Given the description of an element on the screen output the (x, y) to click on. 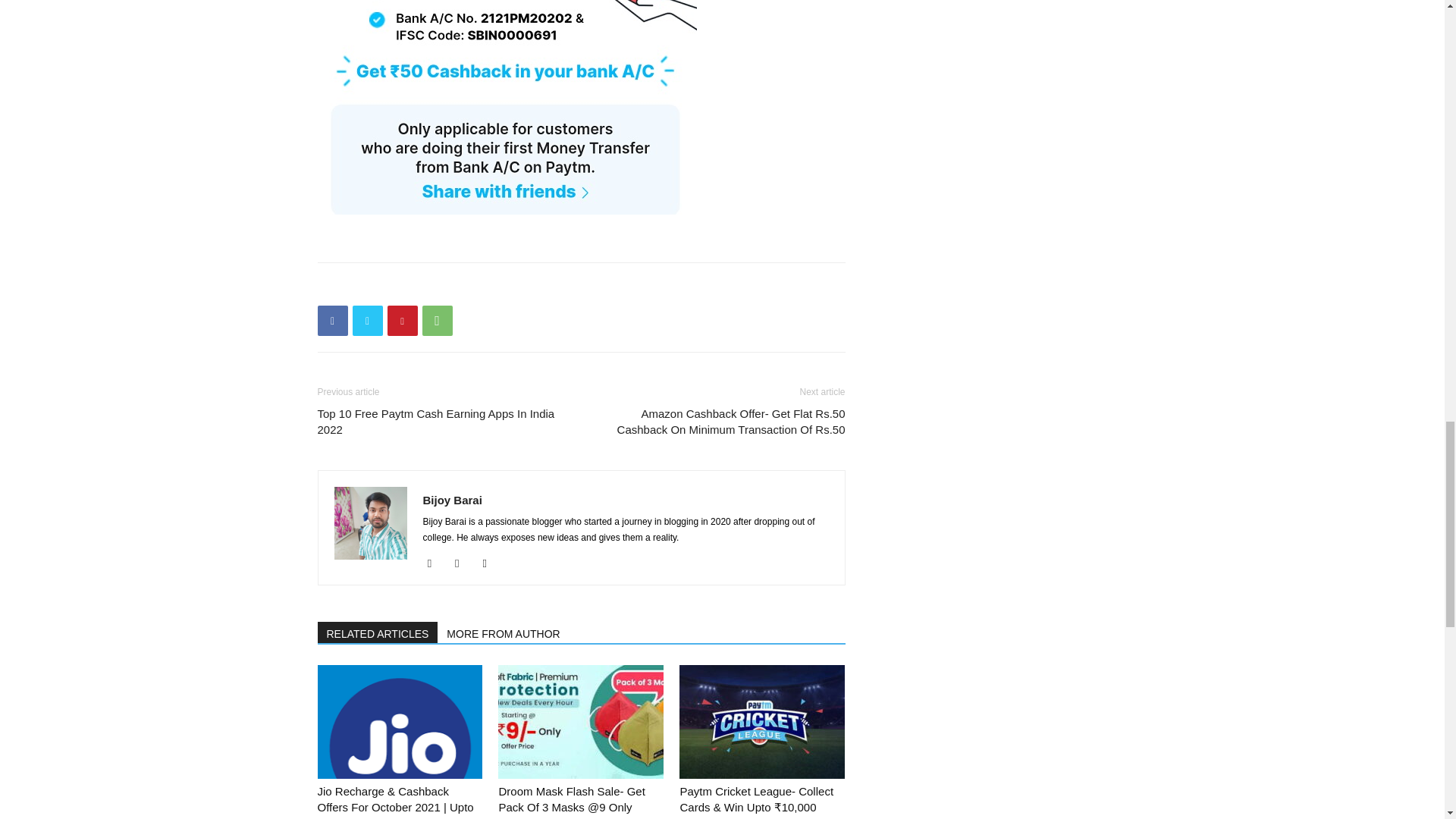
bottomFacebookLike (430, 286)
